Given the description of an element on the screen output the (x, y) to click on. 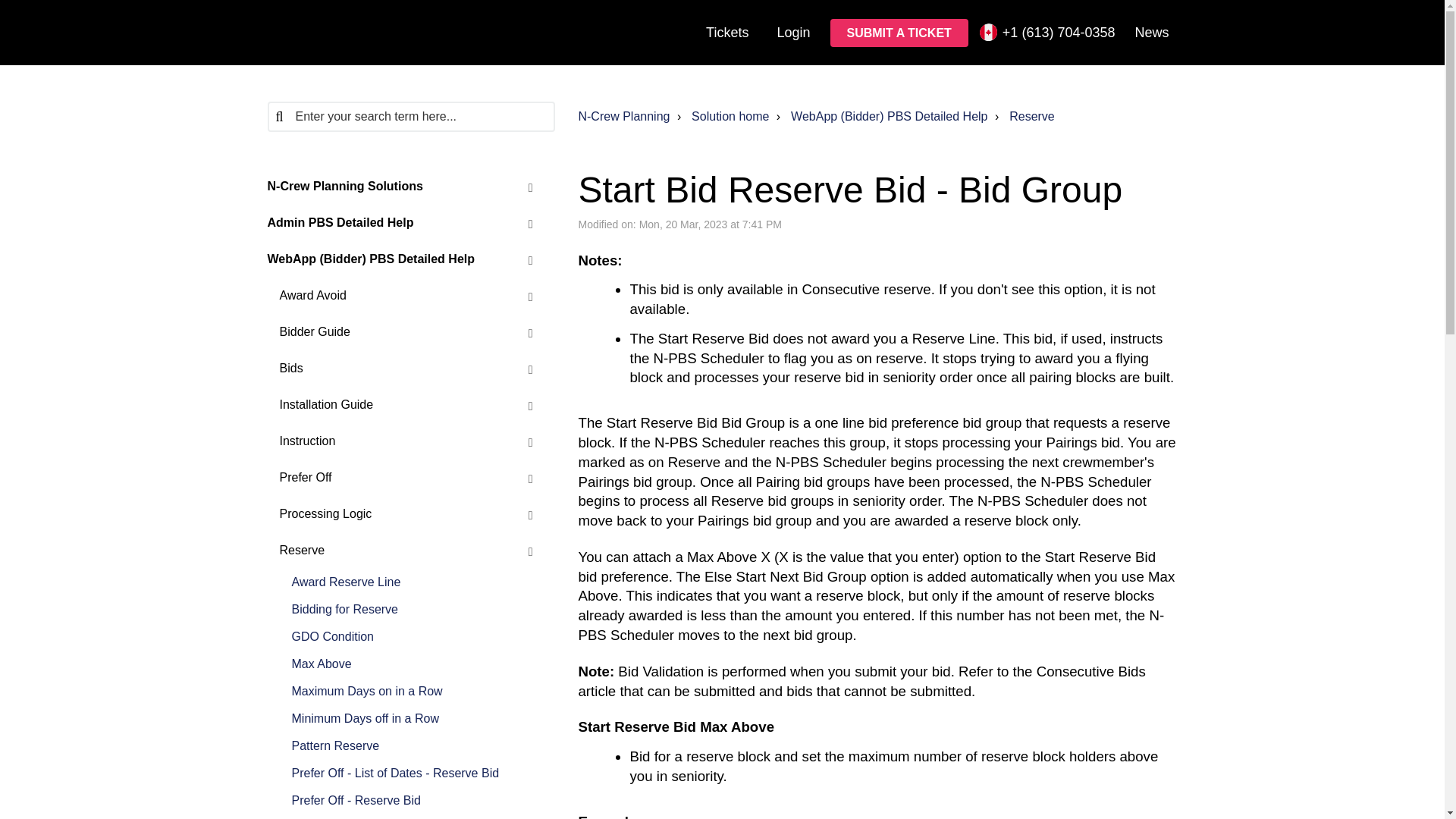
Tickets (727, 32)
Solution home (729, 115)
Login (793, 32)
Reserve (1031, 115)
N-Crew Planning Solutions (399, 186)
Reserve (1022, 116)
SUBMIT A TICKET (898, 31)
News (1150, 32)
N-Crew Planning (623, 115)
Solution home (721, 116)
